Given the description of an element on the screen output the (x, y) to click on. 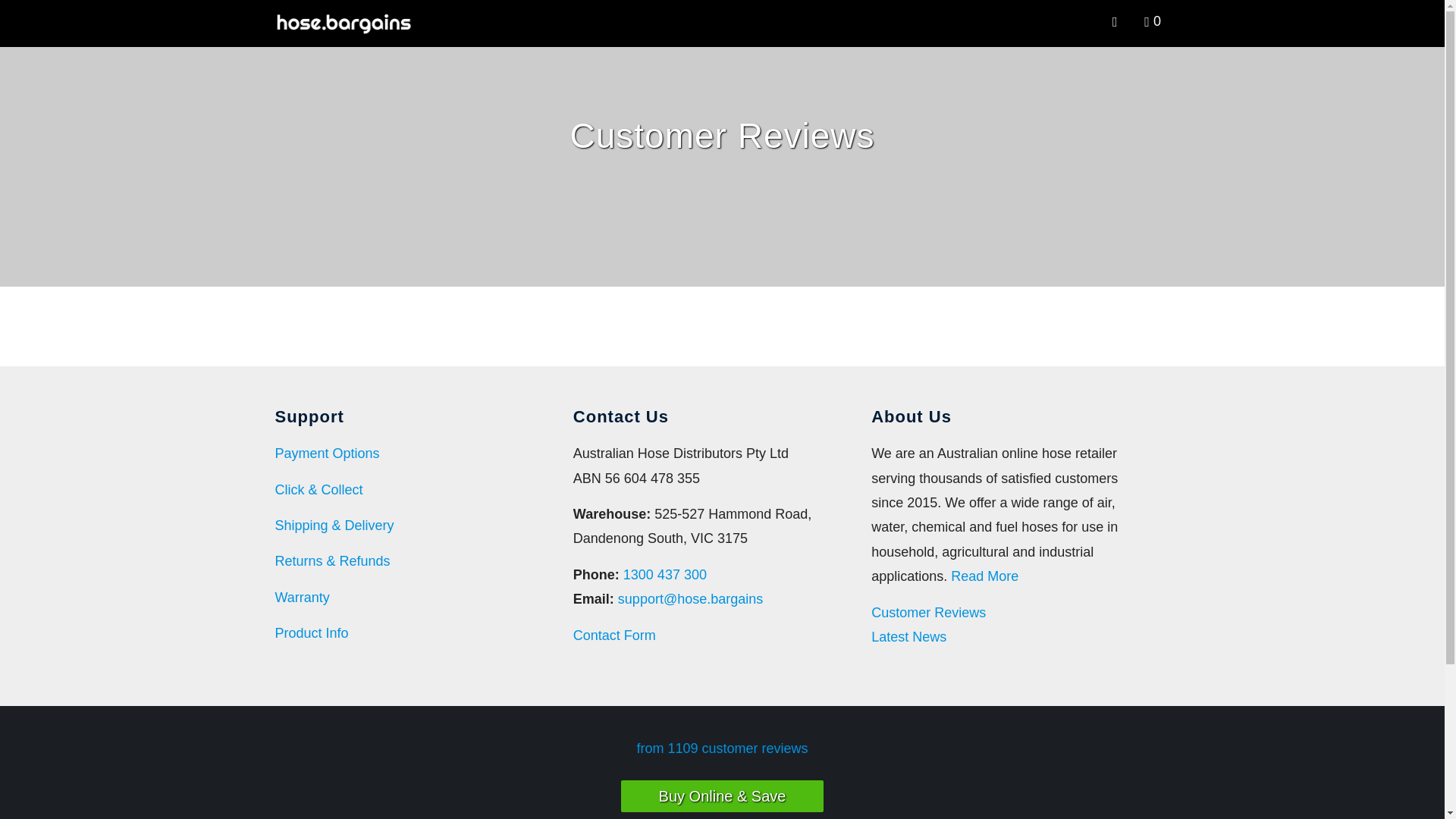
About Us (983, 575)
hose.bargains (352, 22)
